Given the description of an element on the screen output the (x, y) to click on. 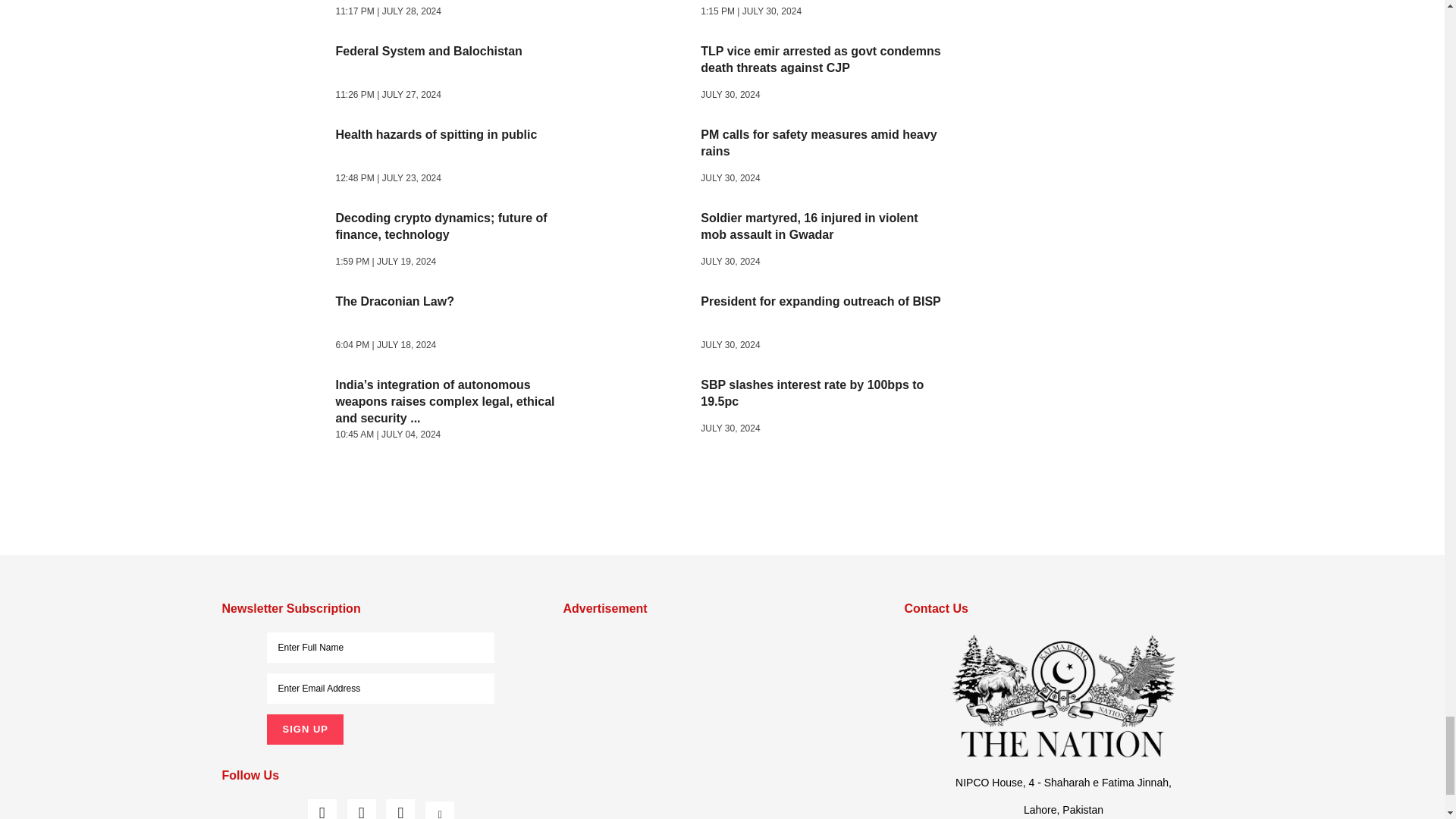
Declaring a person liable to death against Sharia: CII (643, 12)
Sign up (304, 729)
Health hazards of spitting in public (278, 158)
President for expanding outreach of BISP (643, 325)
Karachi's garbage: Wherever the wind takes it (278, 12)
Decoding crypto dynamics; future of finance, technology (278, 241)
PM calls for safety measures amid heavy rains (643, 158)
SBP slashes interest rate by 100bps to 19.5pc (643, 408)
The Draconian Law? (278, 325)
